Given the description of an element on the screen output the (x, y) to click on. 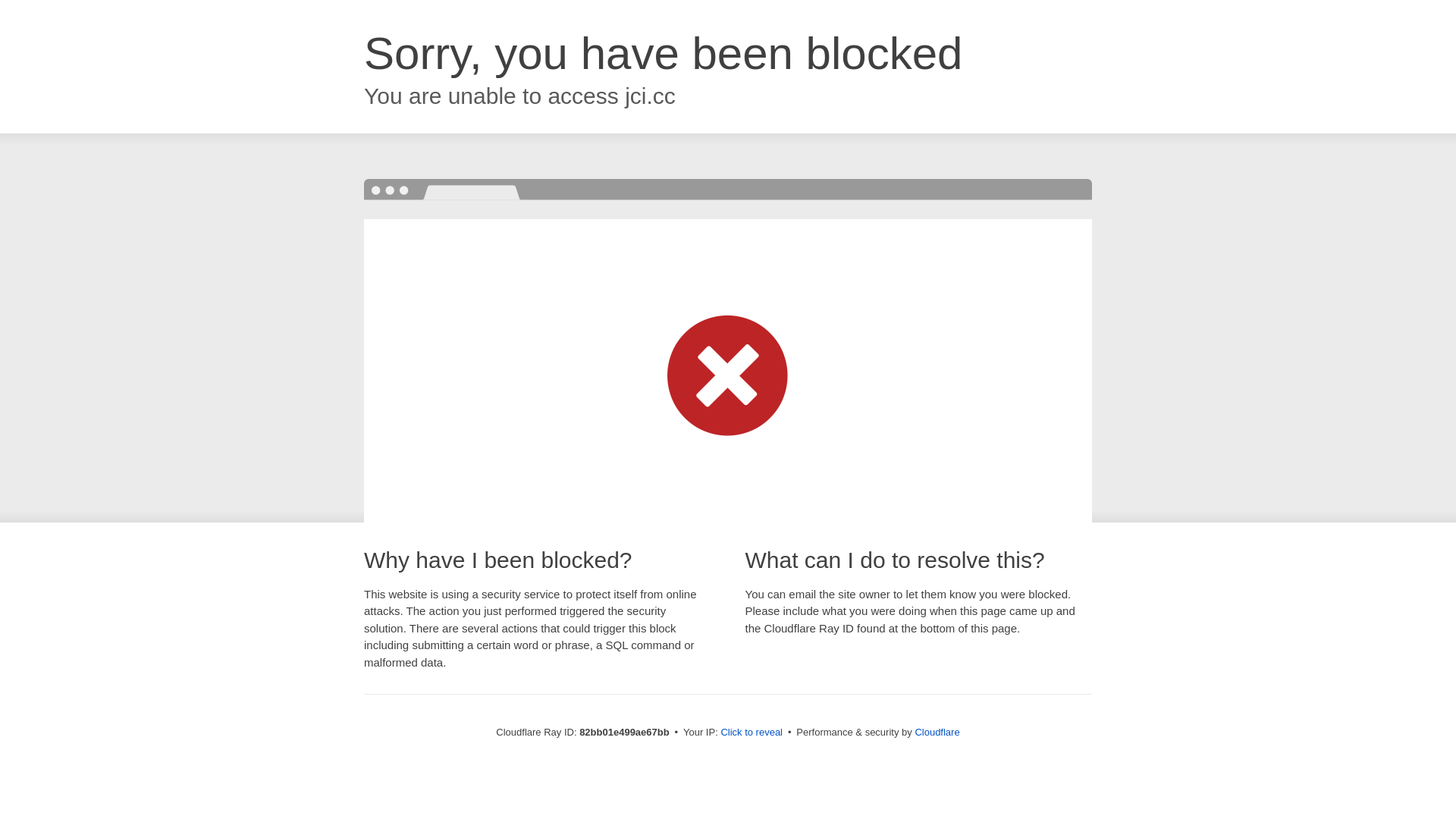
Click to reveal Element type: text (751, 732)
Cloudflare Element type: text (936, 731)
